Given the description of an element on the screen output the (x, y) to click on. 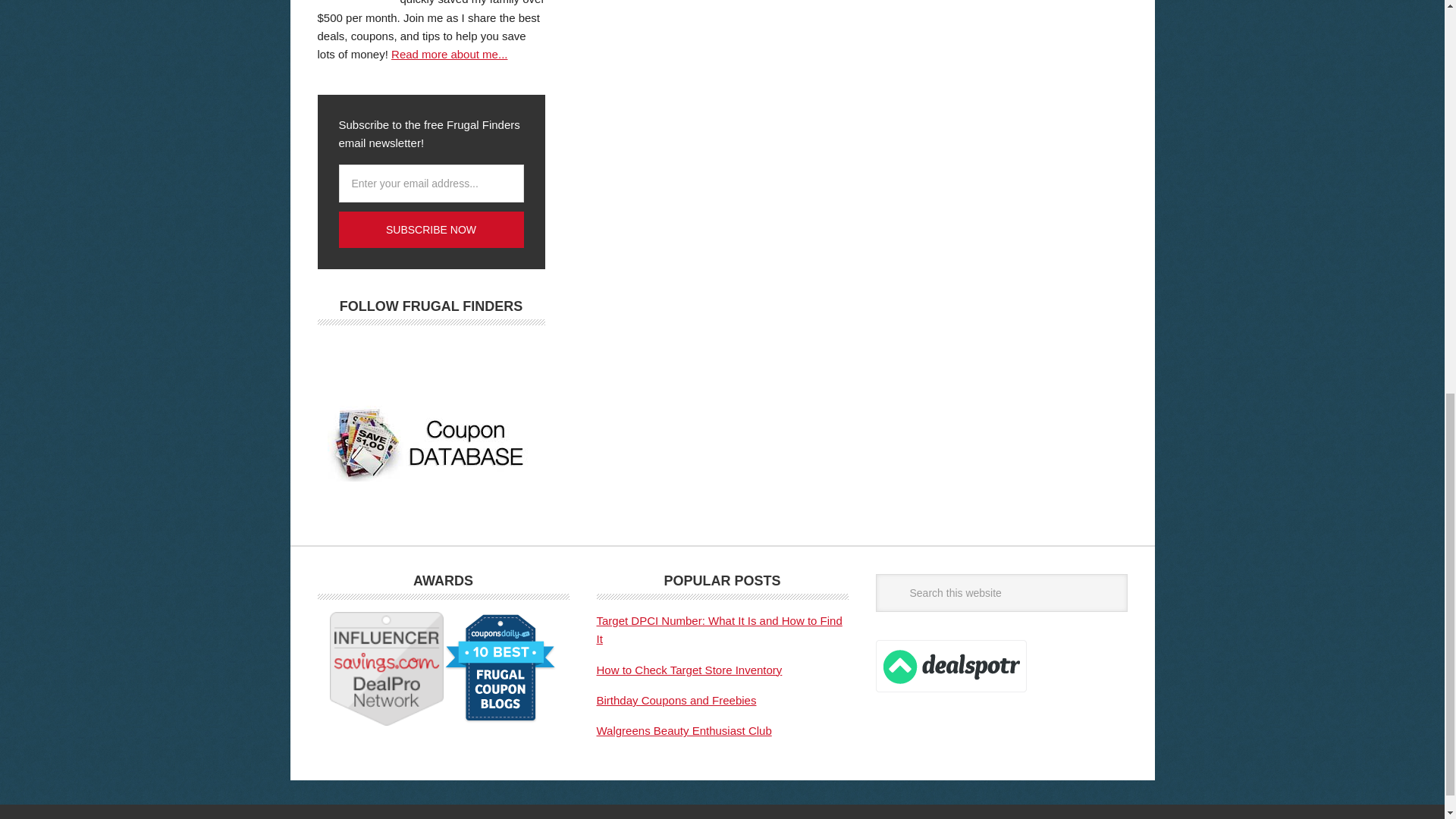
Subscribe Now (429, 229)
RSS (472, 356)
Enter your email address... (429, 183)
Subscribe Now (429, 229)
Read more about me... (448, 53)
Twitter (381, 356)
Facebook (336, 356)
Pinterest (426, 356)
